Given the description of an element on the screen output the (x, y) to click on. 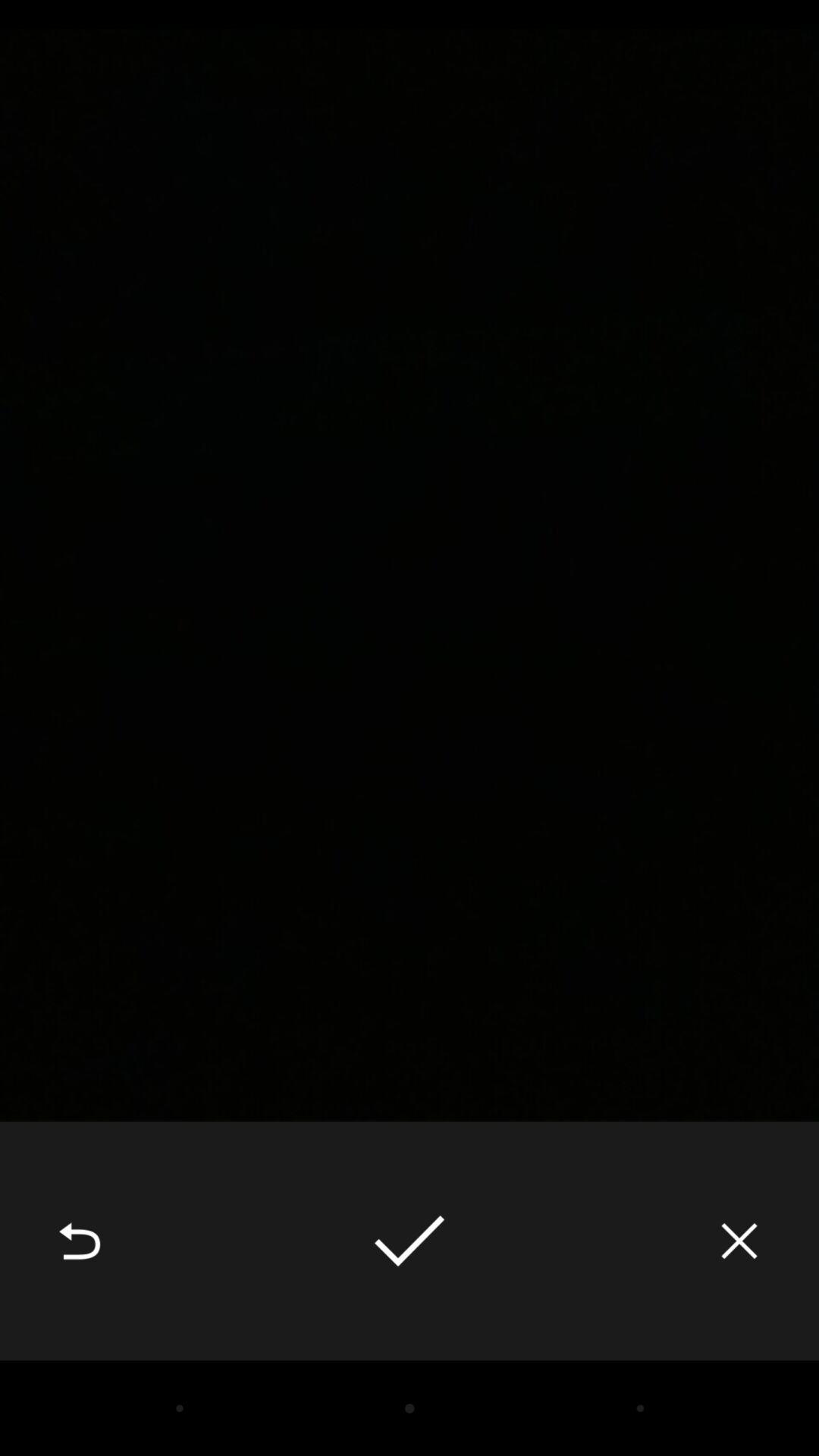
tap the item at the bottom left corner (79, 1240)
